Given the description of an element on the screen output the (x, y) to click on. 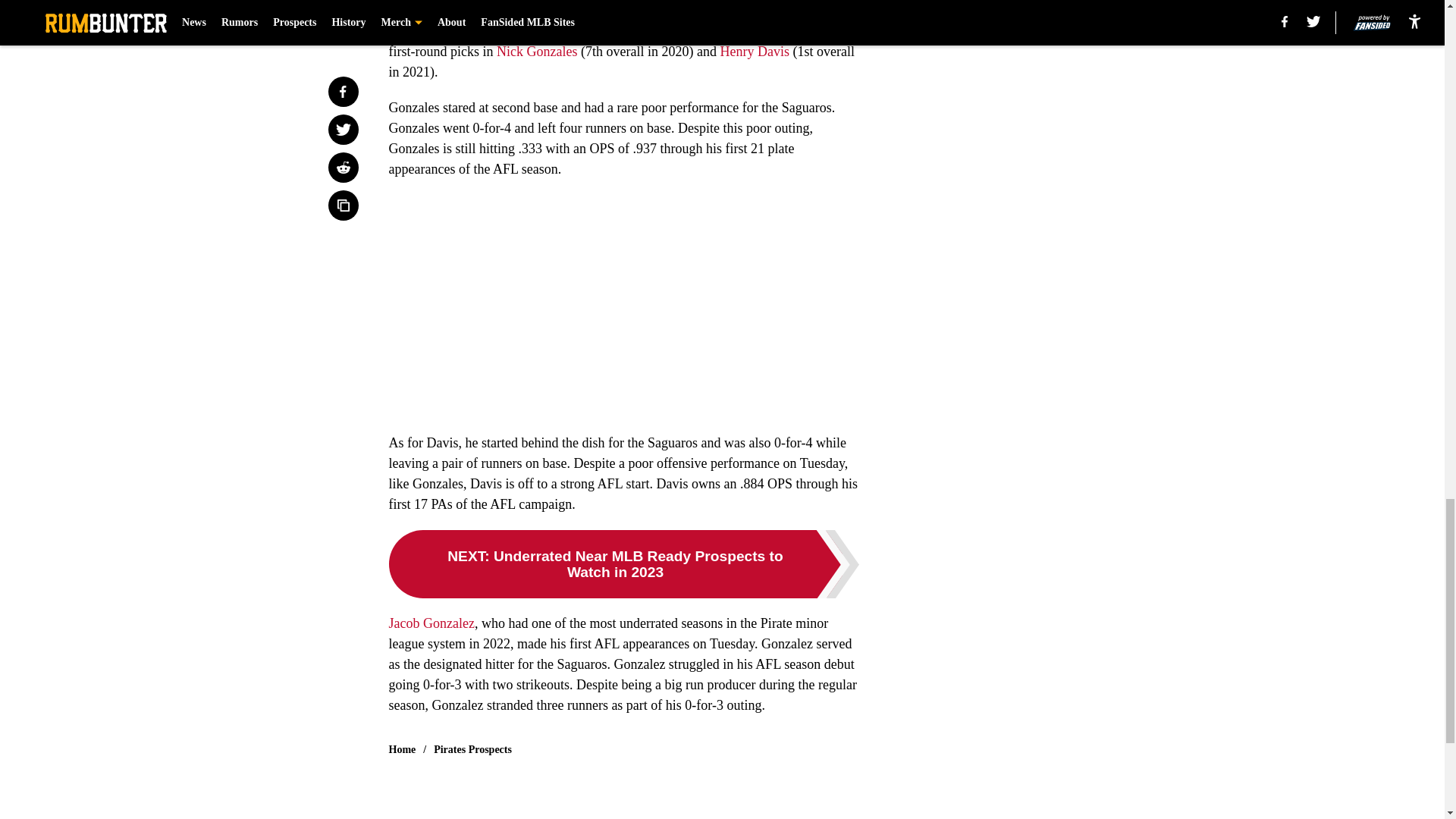
Henry Davis (754, 51)
Pirates Prospects (472, 749)
Nick Gonzales (536, 51)
Home (401, 749)
NEXT: Underrated Near MLB Ready Prospects to Watch in 2023 (623, 563)
Jacob Gonzalez (431, 622)
